Given the description of an element on the screen output the (x, y) to click on. 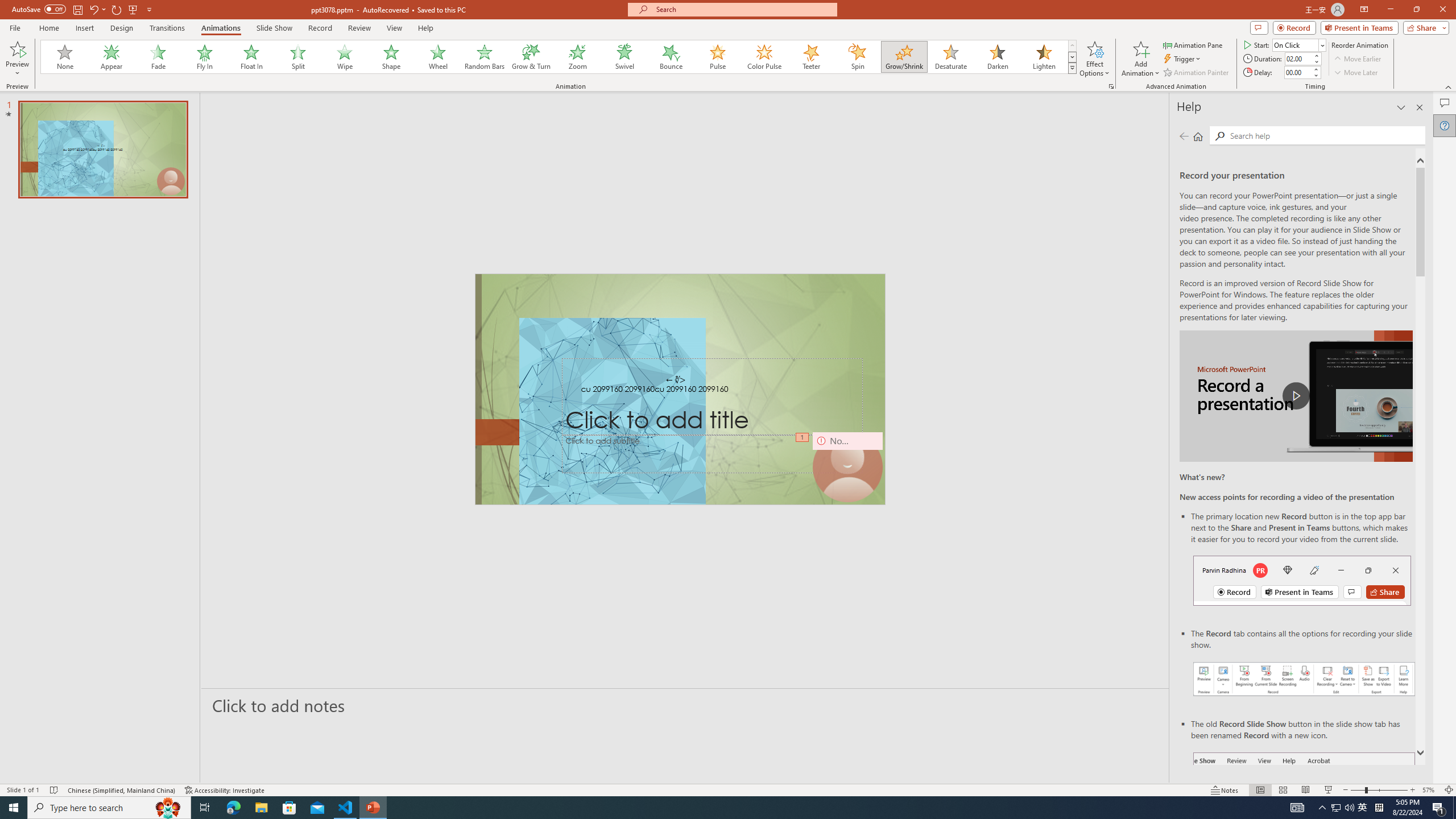
Move Later (1355, 72)
More Options... (1110, 85)
Animation Painter (1196, 72)
TextBox 61 (679, 390)
Move Earlier (1357, 58)
Zoom 57% (1430, 790)
